Given the description of an element on the screen output the (x, y) to click on. 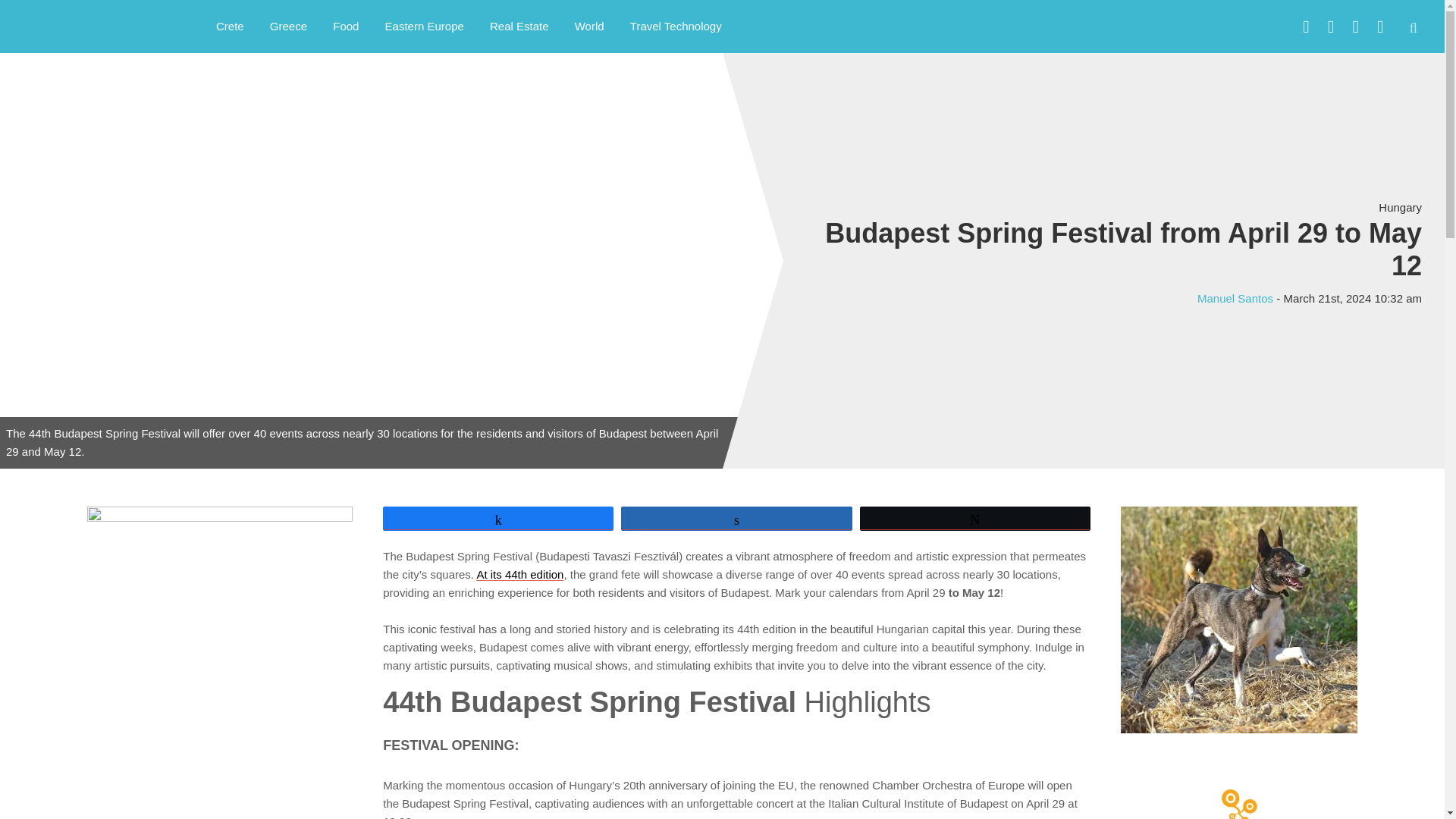
Crete (230, 26)
At its 44th edition (519, 574)
Posts by Manuel Santos (1234, 297)
Argophilia (90, 24)
Greece (288, 26)
Hungary (1400, 206)
Manuel Santos (1234, 297)
World (589, 26)
Travel Technology (675, 26)
Eastern Europe (425, 26)
